Given the description of an element on the screen output the (x, y) to click on. 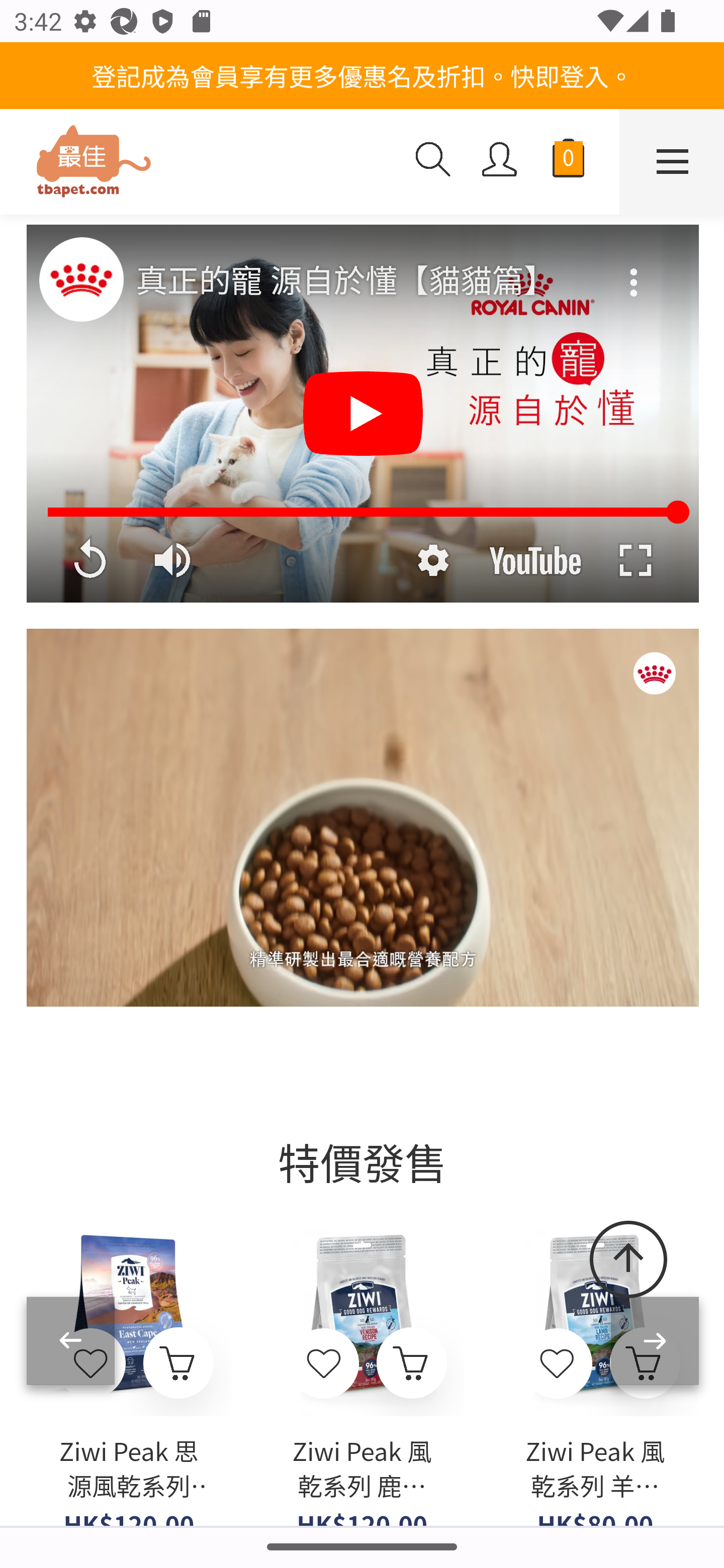
450x (200, 162)
sign_in (499, 161)
0 (567, 161)
More (635, 269)
Photo image of Royal Canin HK (80, 278)
真正的寵 源自於懂【貓貓篇】 (364, 281)
Play (362, 413)
Replay (89, 560)
Mute (173, 560)
Settings (432, 560)
Watch on YouTube (534, 560)
Full screen (635, 560)
 (324, 1364)
 (556, 1364)
